Given the description of an element on the screen output the (x, y) to click on. 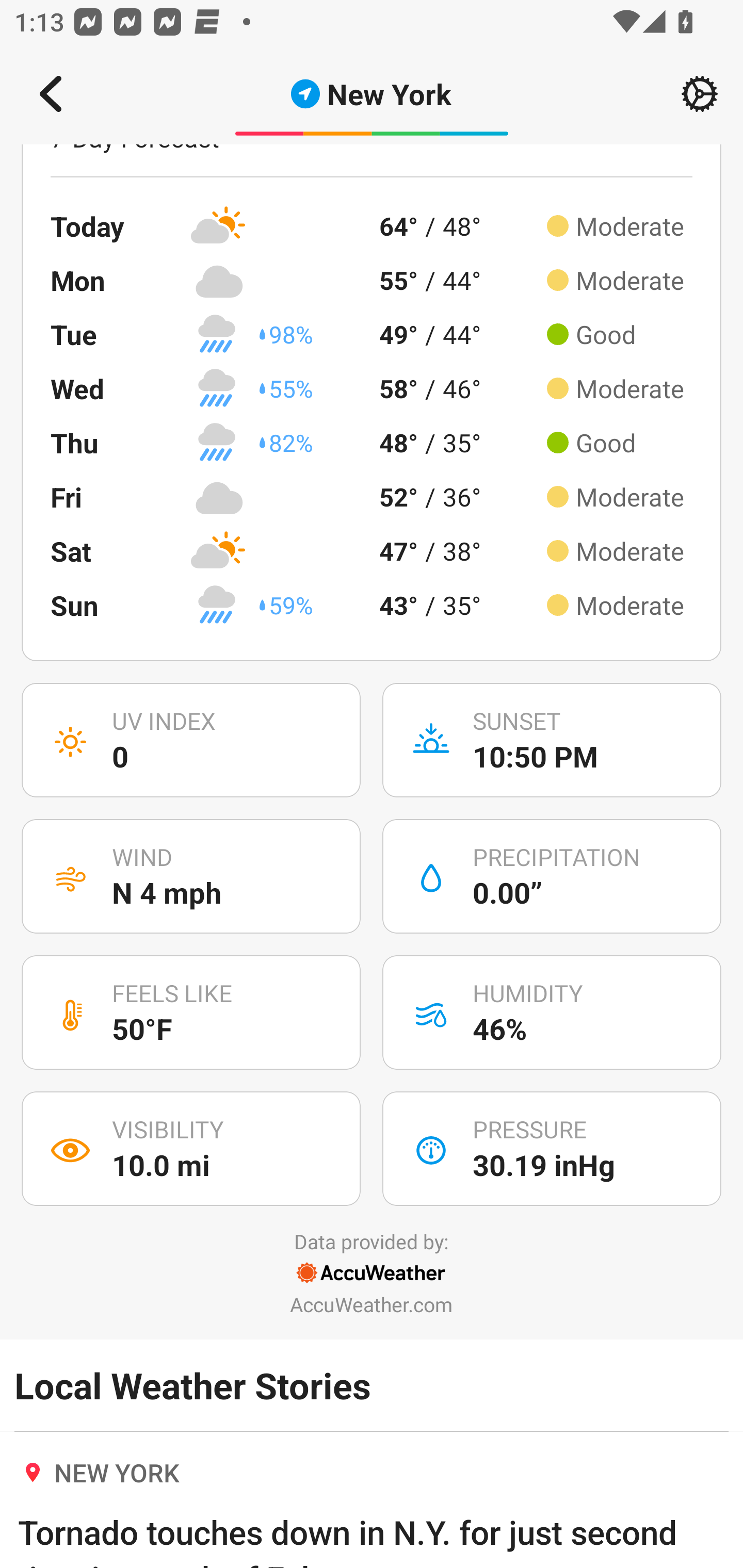
Navigate up (50, 93)
Setting (699, 93)
